Given the description of an element on the screen output the (x, y) to click on. 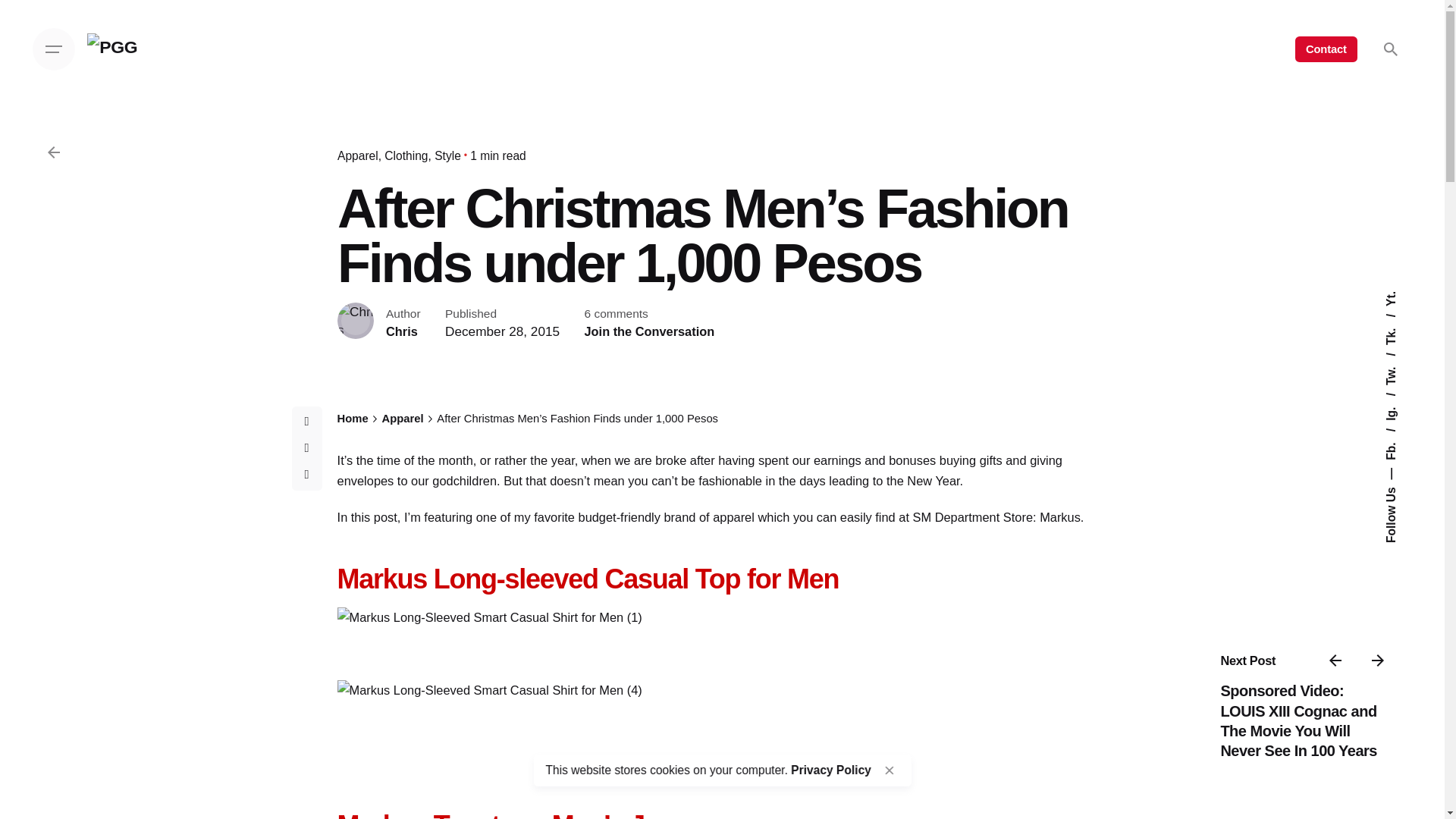
Contact (1325, 49)
Tk. (1399, 319)
Fb. (1399, 434)
Ig. (1398, 399)
Yt. (1391, 297)
Tw. (1400, 358)
